Given the description of an element on the screen output the (x, y) to click on. 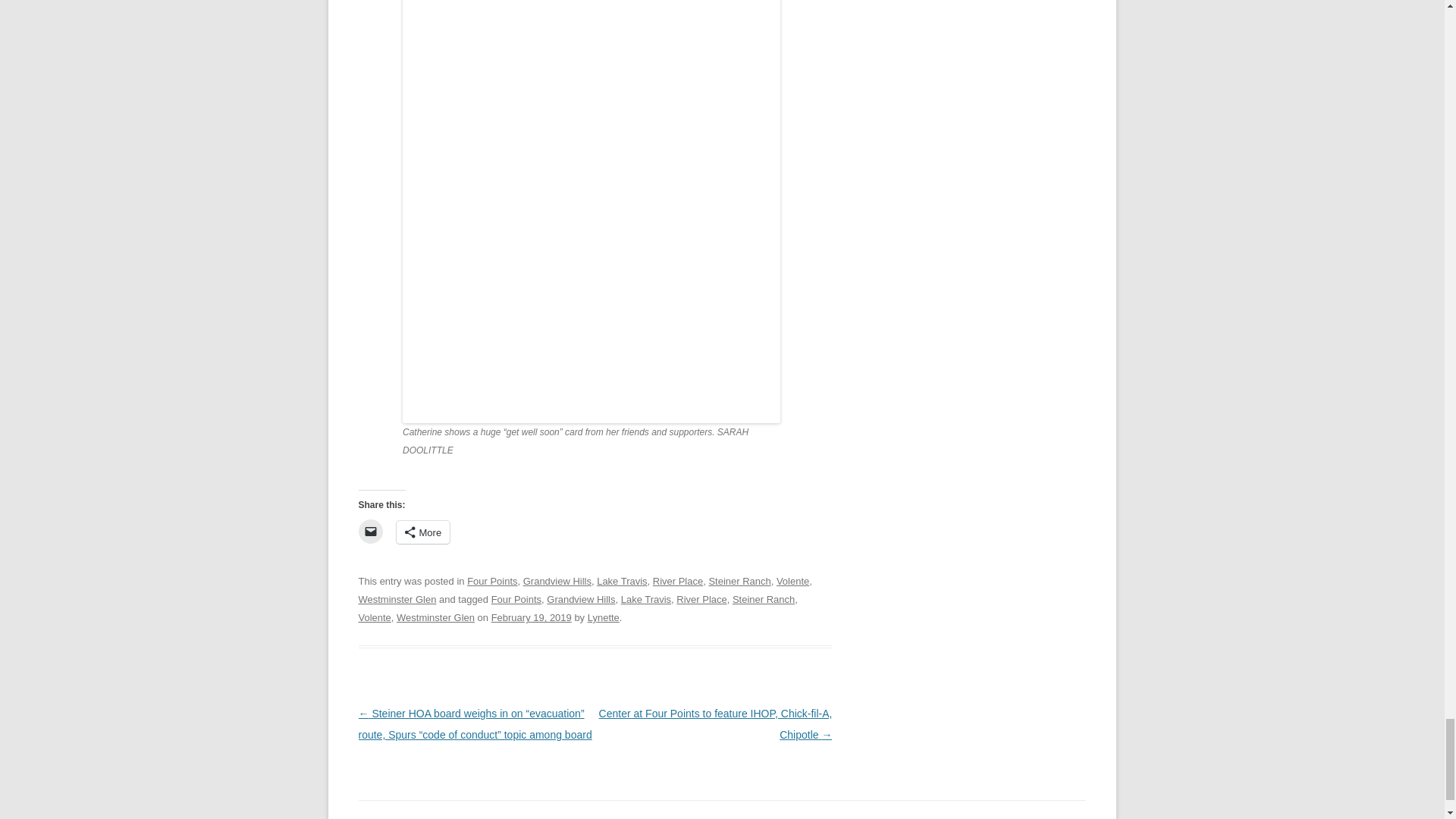
Steiner Ranch (738, 581)
Lake Travis (621, 581)
View all posts by Lynette (604, 617)
Westminster Glen (435, 617)
8:30 pm (532, 617)
Lynette (604, 617)
Four Points (516, 599)
February 19, 2019 (532, 617)
Volente (792, 581)
Steiner Ranch (763, 599)
Westminster Glen (396, 599)
Grandview Hills (556, 581)
River Place (701, 599)
Four Points (491, 581)
Volente (374, 617)
